Given the description of an element on the screen output the (x, y) to click on. 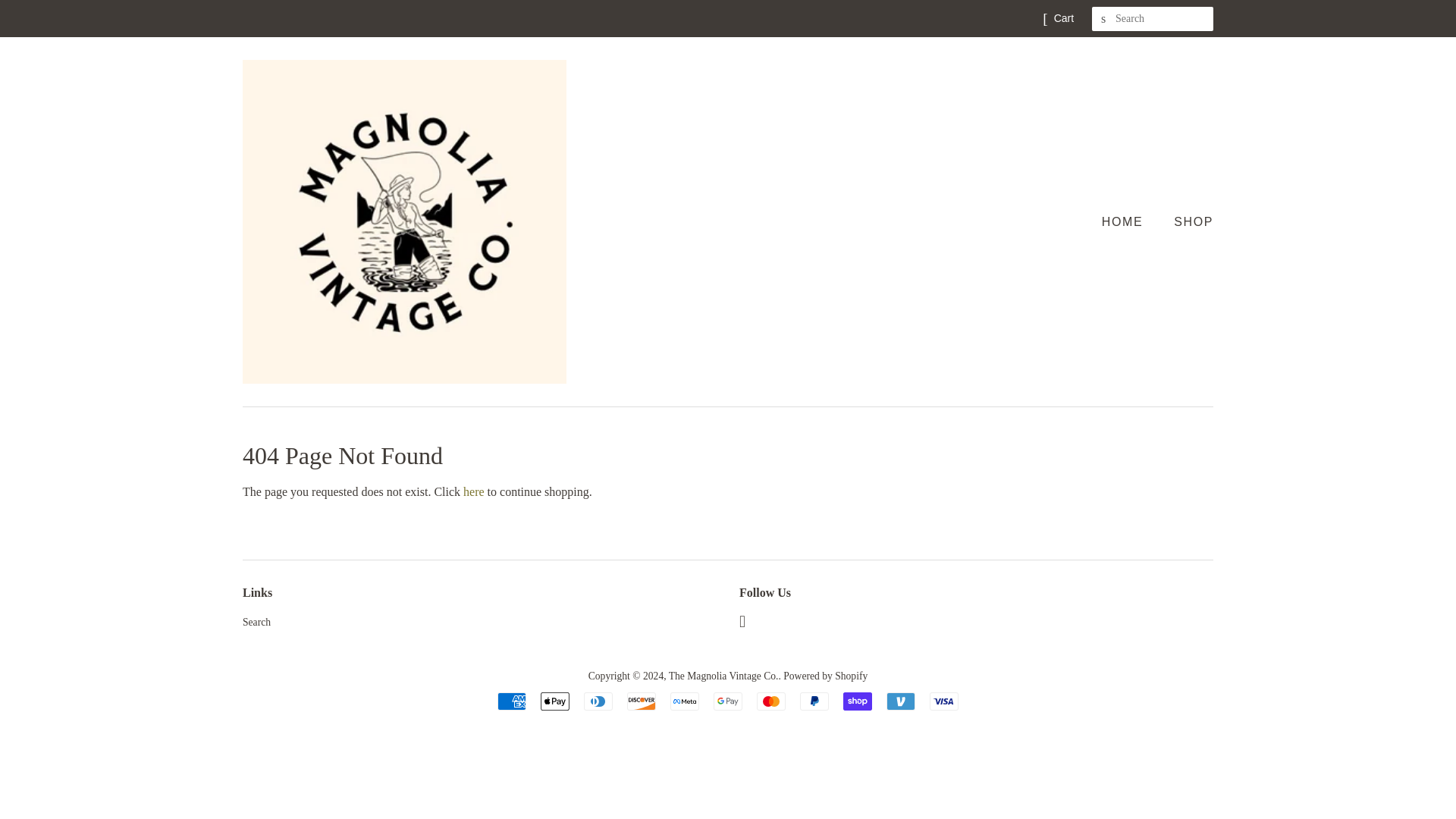
The Magnolia Vintage Co. (723, 675)
Powered by Shopify (825, 675)
American Express (511, 701)
Google Pay (727, 701)
Diners Club (597, 701)
Discover (641, 701)
Venmo (900, 701)
here (473, 491)
Cart (1064, 18)
Shop Pay (857, 701)
Visa (944, 701)
Search (256, 622)
Mastercard (771, 701)
Apple Pay (554, 701)
HOME (1129, 221)
